Given the description of an element on the screen output the (x, y) to click on. 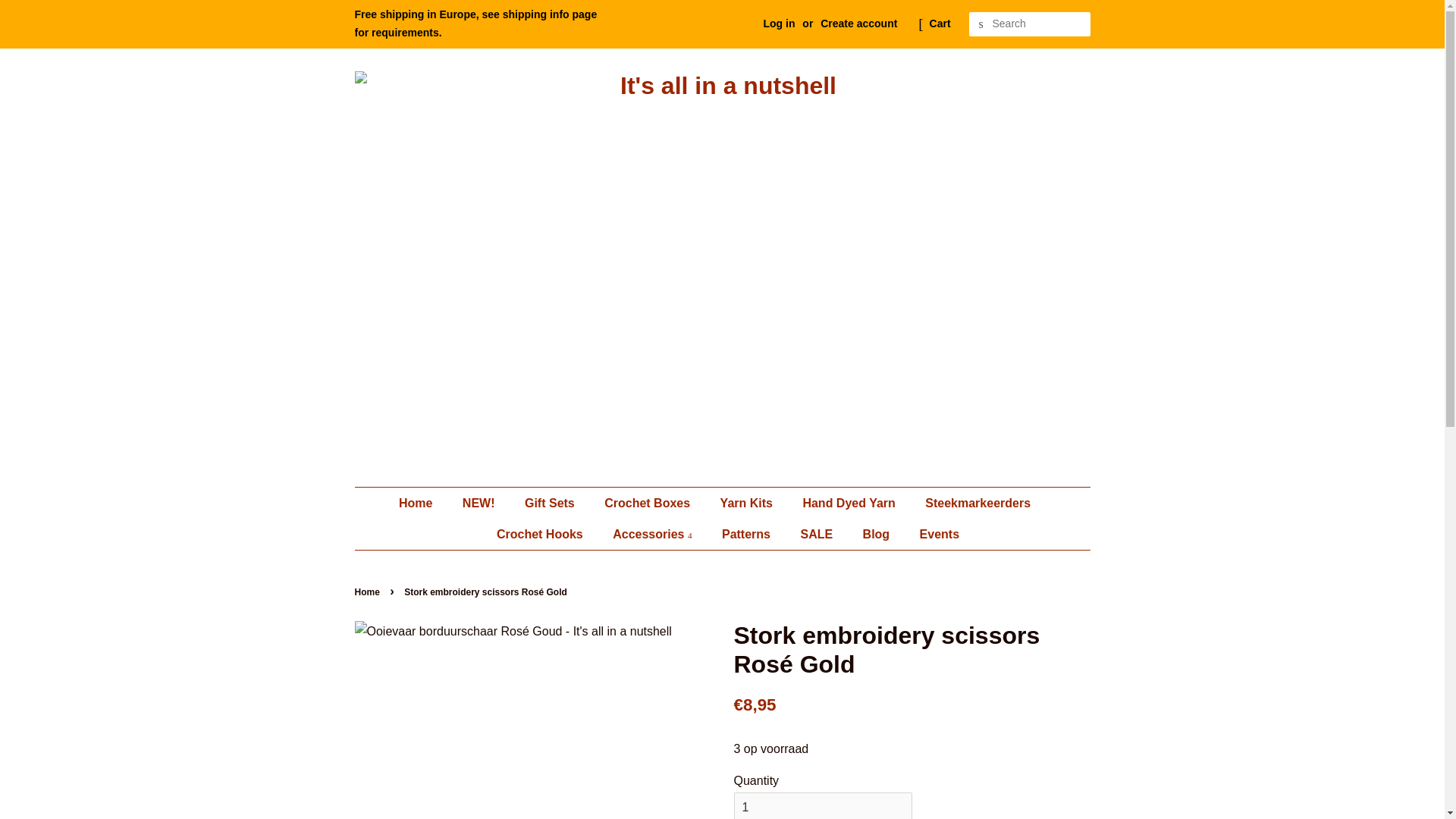
NEW! (481, 502)
Accessories (653, 533)
Hand Dyed Yarn (850, 502)
1 (822, 805)
Crochet Hooks (541, 533)
Search (980, 24)
Yarn Kits (748, 502)
Steekmarkeerders (979, 502)
Create account (858, 23)
Gift Sets (551, 502)
Home (422, 502)
Crochet Boxes (648, 502)
Log in (778, 23)
Back to the frontpage (369, 592)
Cart (940, 24)
